Given the description of an element on the screen output the (x, y) to click on. 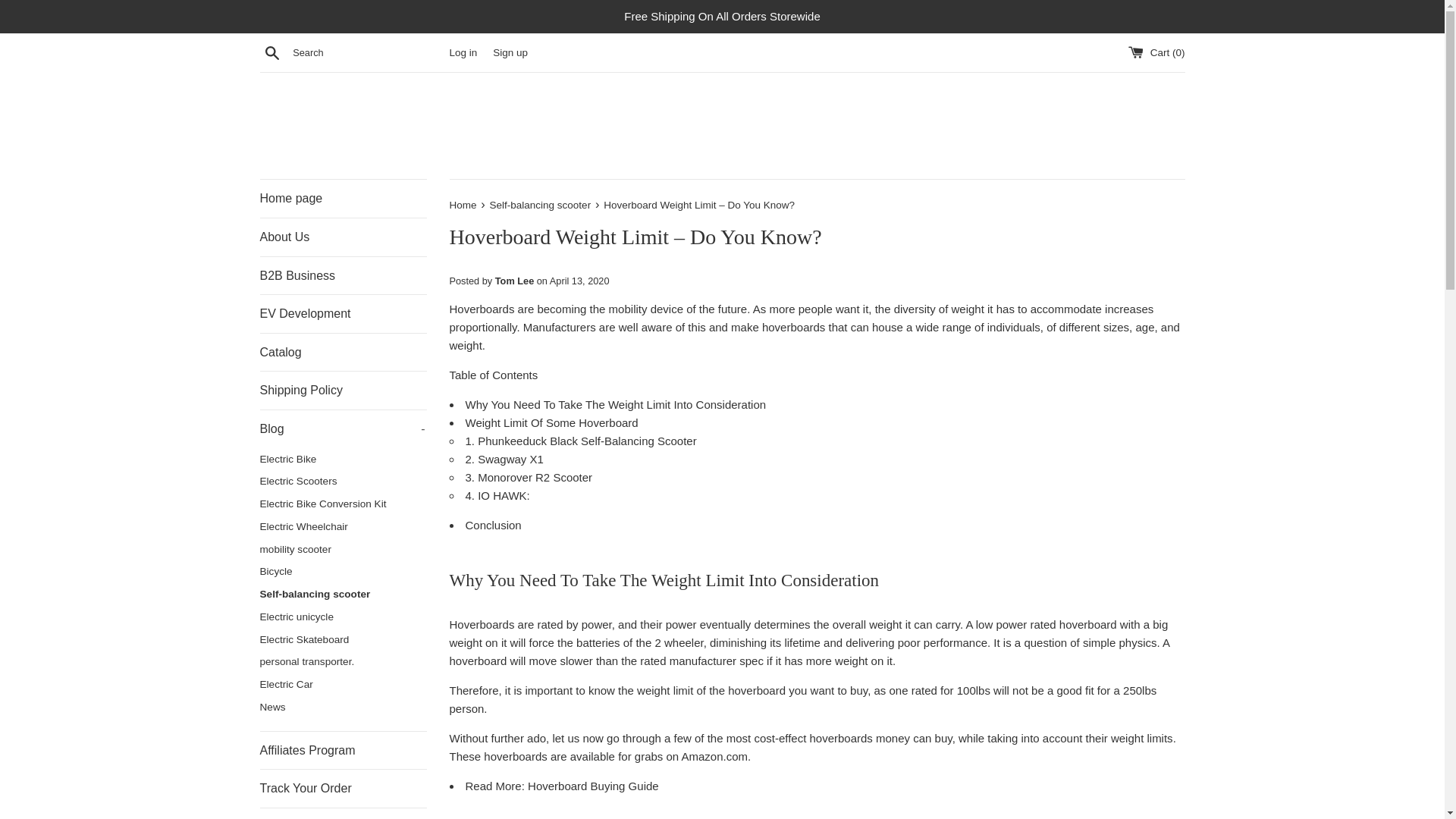
Contact Us (342, 813)
EV Development (342, 313)
Affiliates Program (342, 750)
Electric Car (342, 684)
Electric Wheelchair (342, 526)
About Us (342, 237)
mobility scooter (342, 549)
Shipping Policy (342, 390)
Home page (342, 198)
4. IO HAWK: (497, 495)
